Given the description of an element on the screen output the (x, y) to click on. 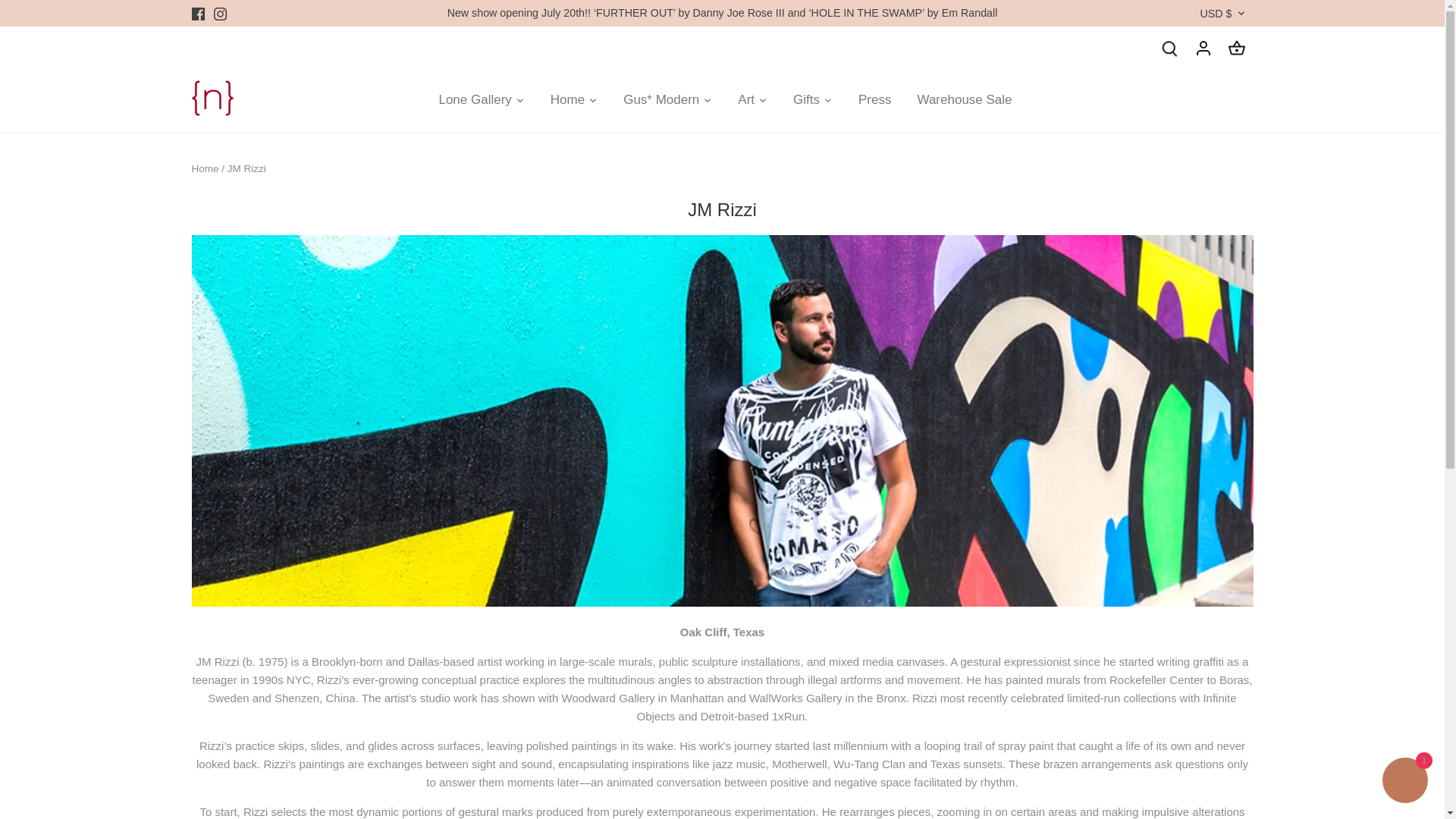
Instagram (220, 13)
Go to cart (1235, 46)
Facebook (196, 12)
Facebook (196, 13)
Instagram (220, 12)
Shopify online store chat (1404, 781)
